Given the description of an element on the screen output the (x, y) to click on. 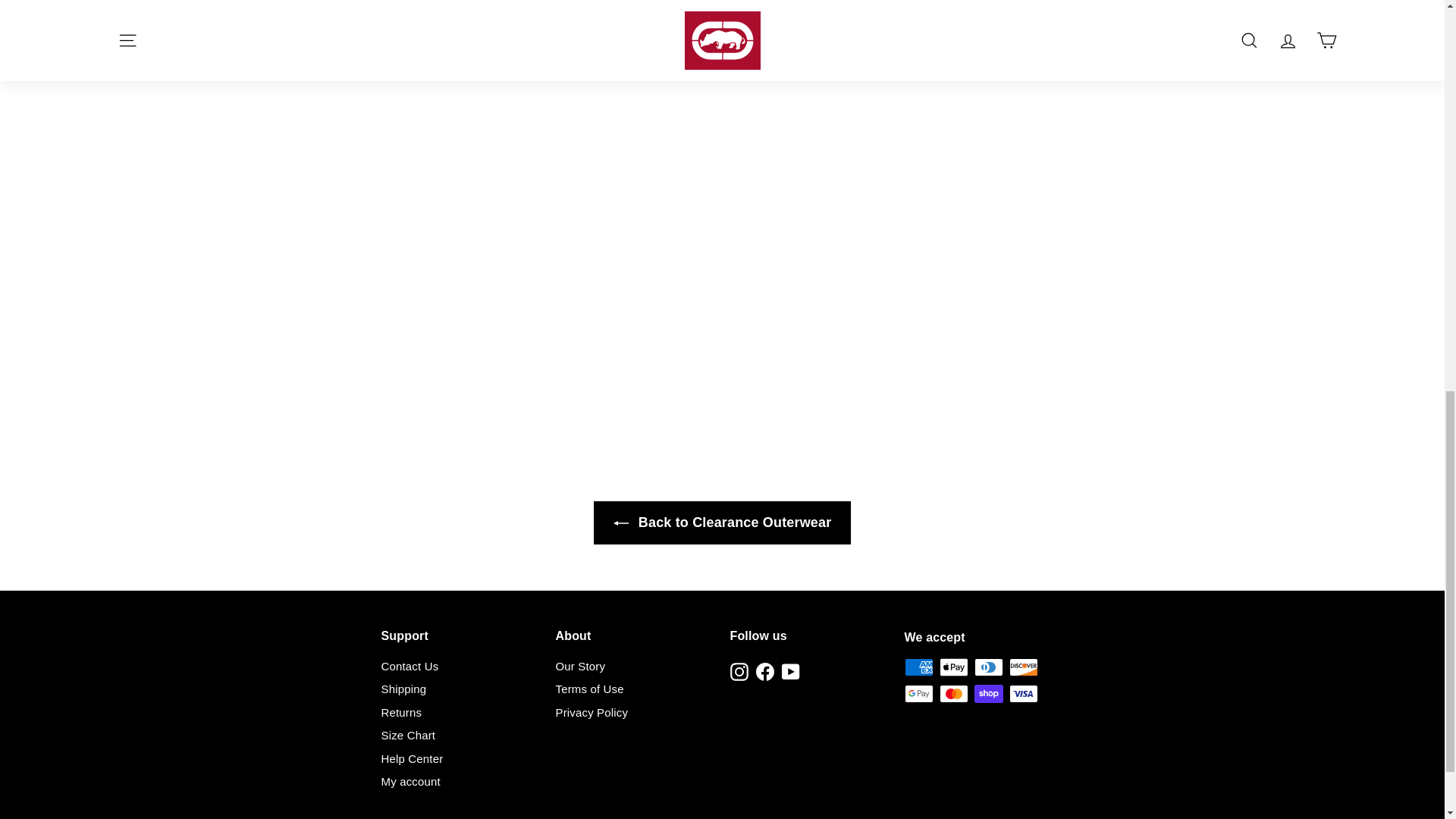
American Express (918, 667)
Shop Pay (988, 693)
instagram (738, 671)
icon-left-arrow (620, 522)
Google Pay (918, 693)
ECKO UNLTD on Facebook (764, 671)
Apple Pay (953, 667)
Discover (1022, 667)
Mastercard (953, 693)
ECKO UNLTD on Instagram (738, 671)
